Given the description of an element on the screen output the (x, y) to click on. 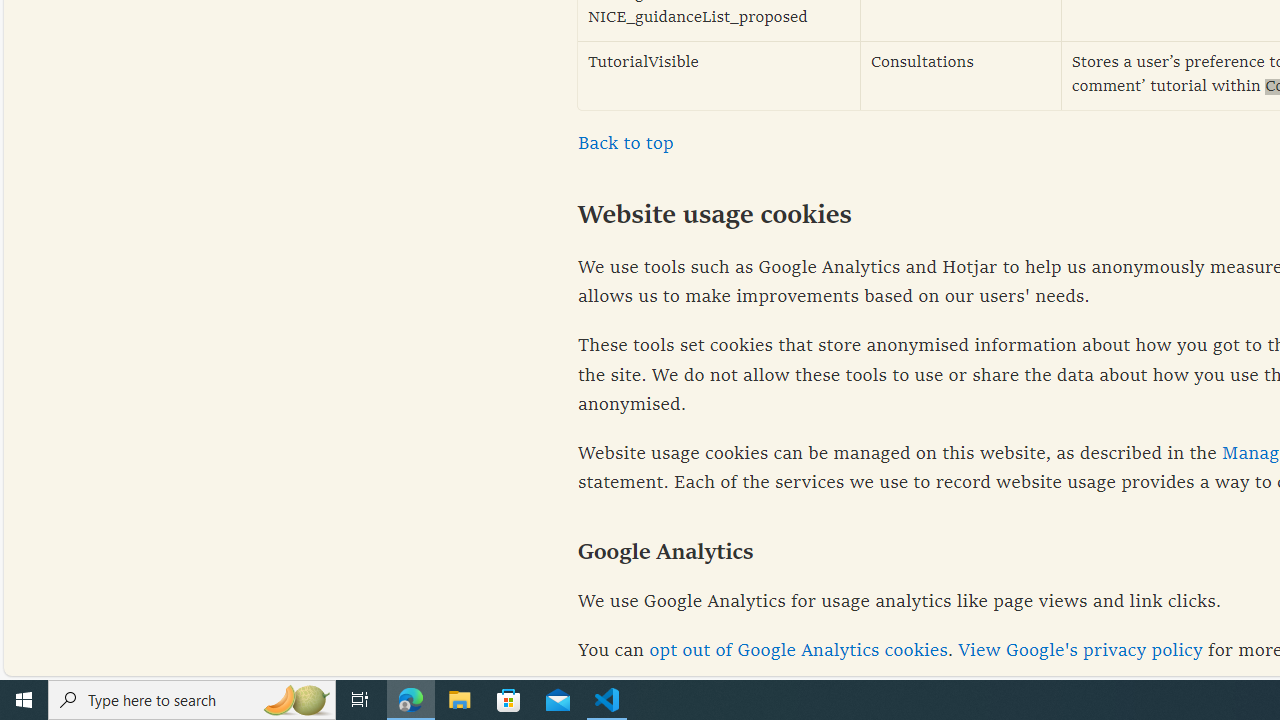
Back to top (625, 144)
TutorialVisible (719, 75)
Consultations (961, 75)
View Google's privacy policy (1080, 651)
opt out of Google Analytics cookies (798, 651)
